Given the description of an element on the screen output the (x, y) to click on. 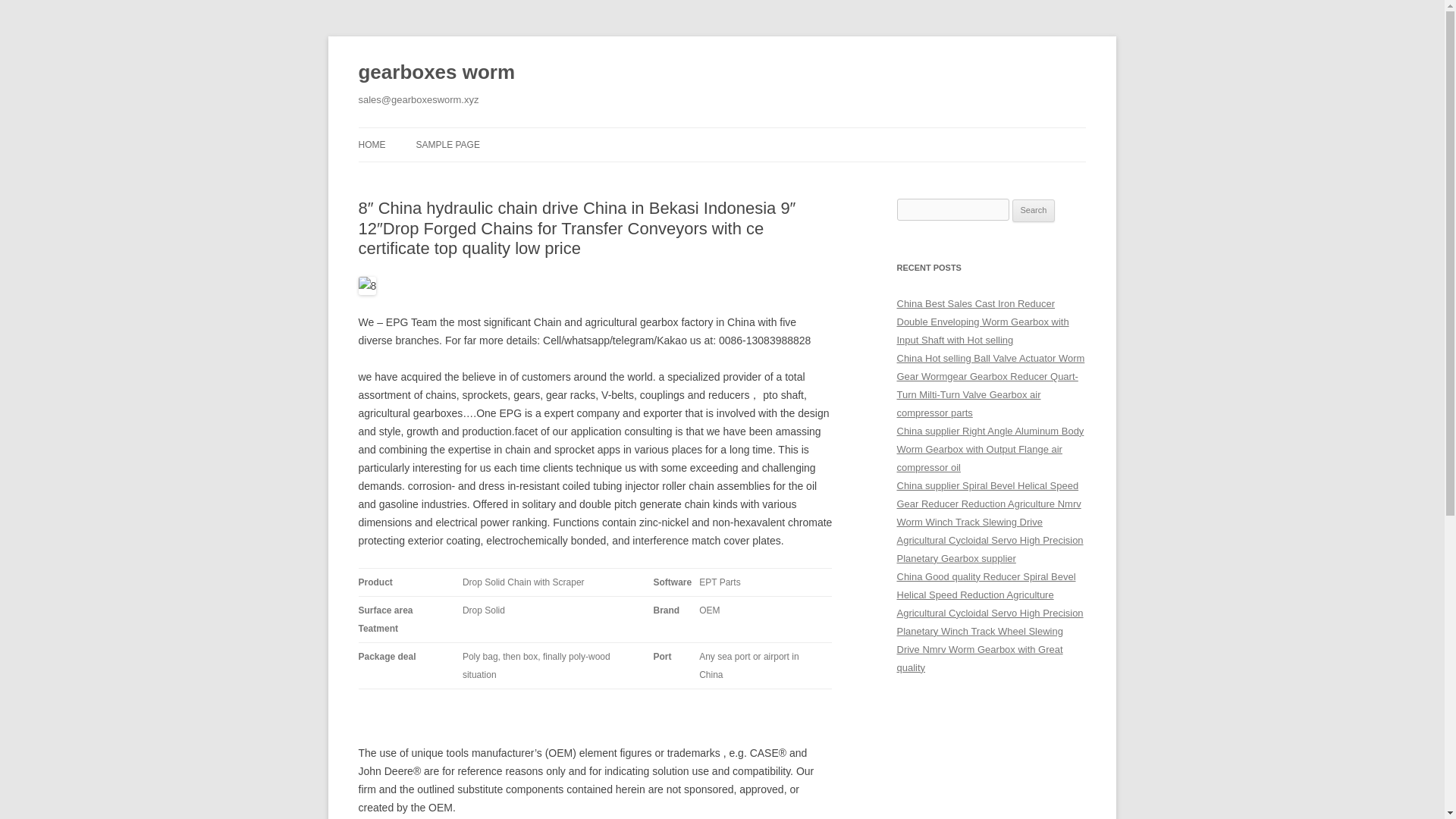
SAMPLE PAGE (446, 144)
gearboxes worm (436, 72)
Search (1033, 210)
Search (1033, 210)
gearboxes worm (436, 72)
